Given the description of an element on the screen output the (x, y) to click on. 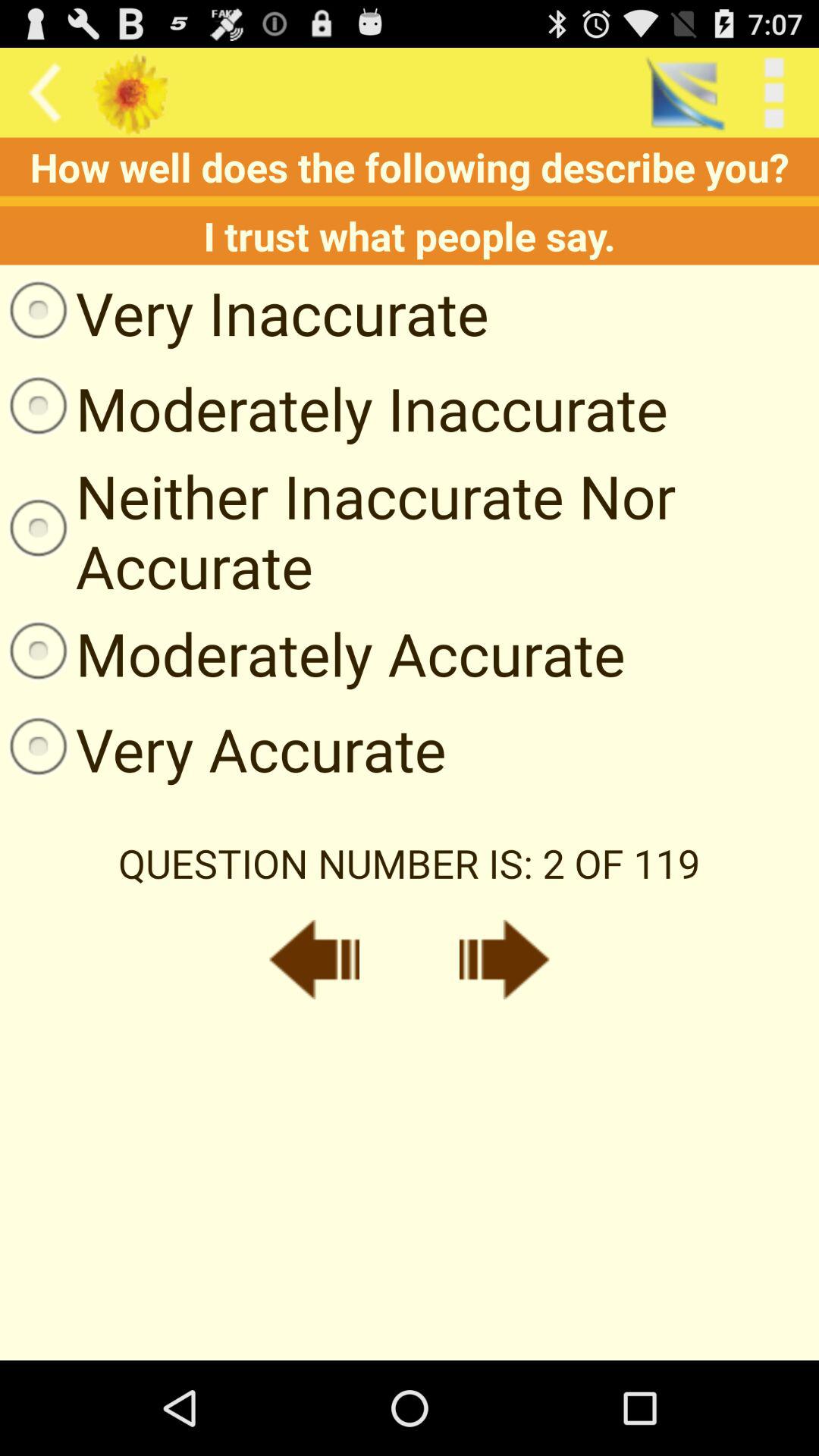
open icon above neither inaccurate nor item (334, 408)
